Given the description of an element on the screen output the (x, y) to click on. 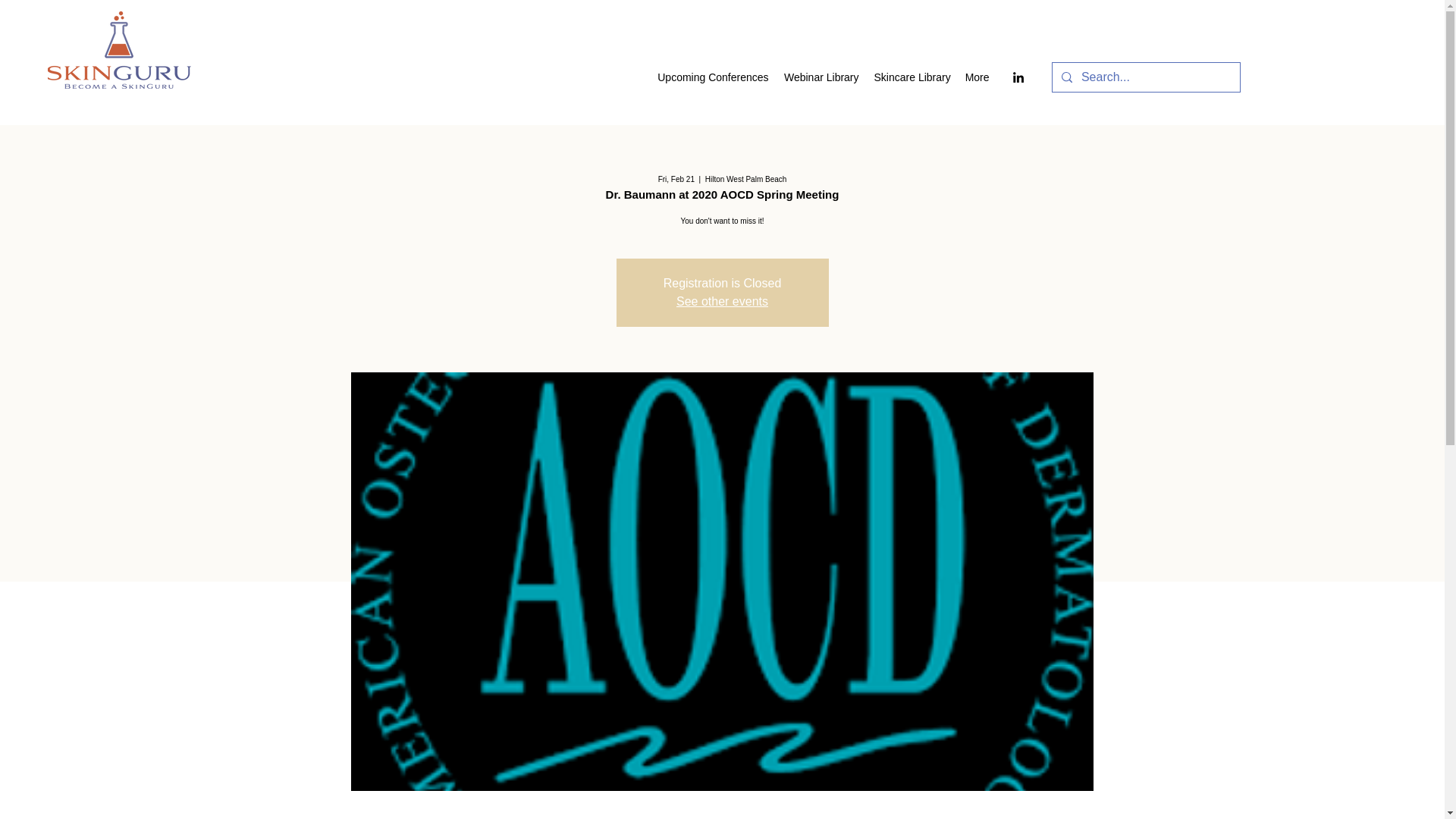
See other events (722, 300)
Upcoming Conferences (711, 77)
Webinar Library (821, 77)
Skincare Library (911, 77)
